Given the description of an element on the screen output the (x, y) to click on. 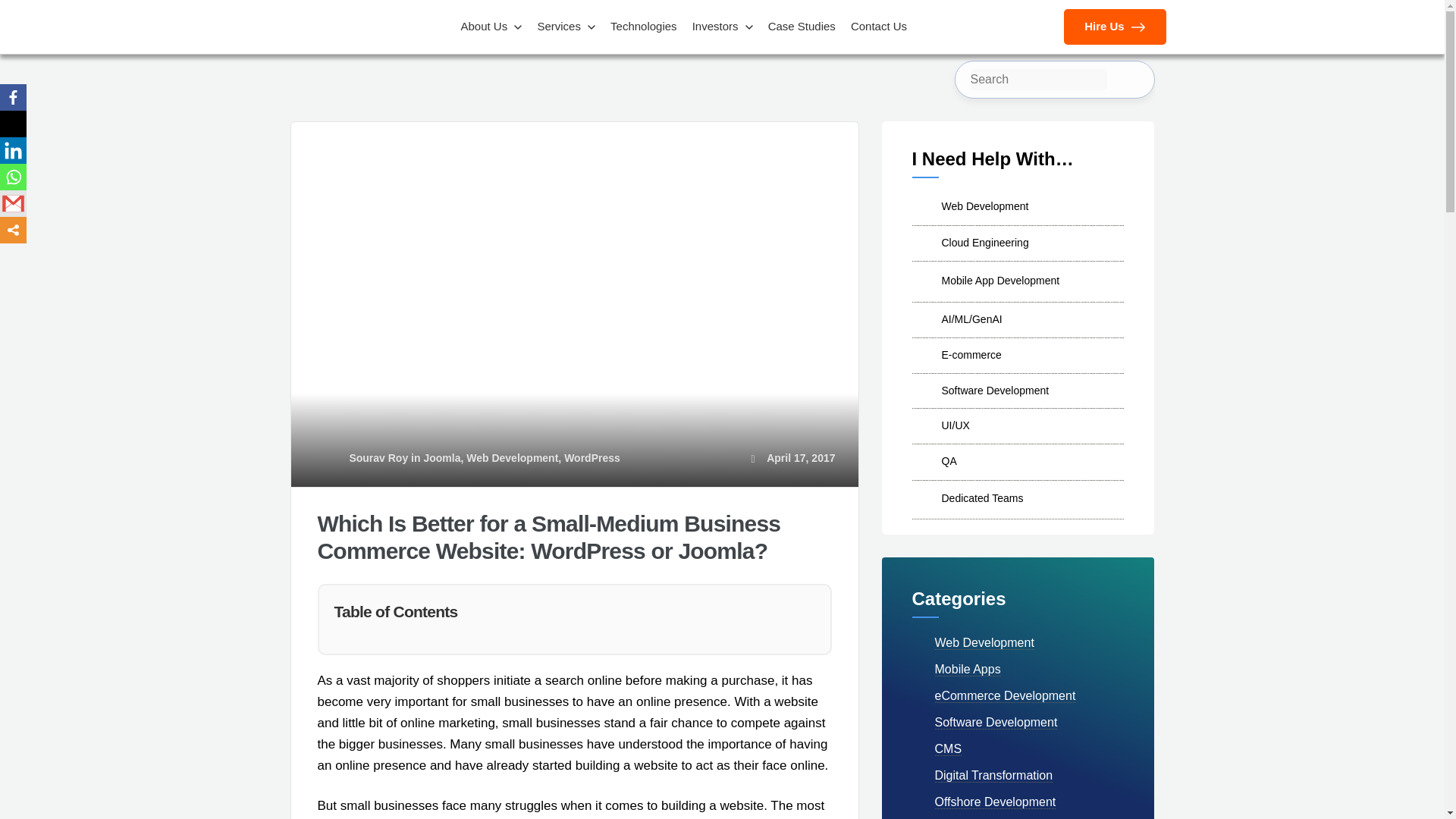
Linkedin (13, 150)
Hire Us (1114, 27)
Investors (722, 27)
Whatsapp (13, 176)
Twitter (13, 123)
Facebook (13, 97)
More (13, 230)
Services (566, 27)
Google Gmail (13, 203)
Technologies (643, 27)
